Given the description of an element on the screen output the (x, y) to click on. 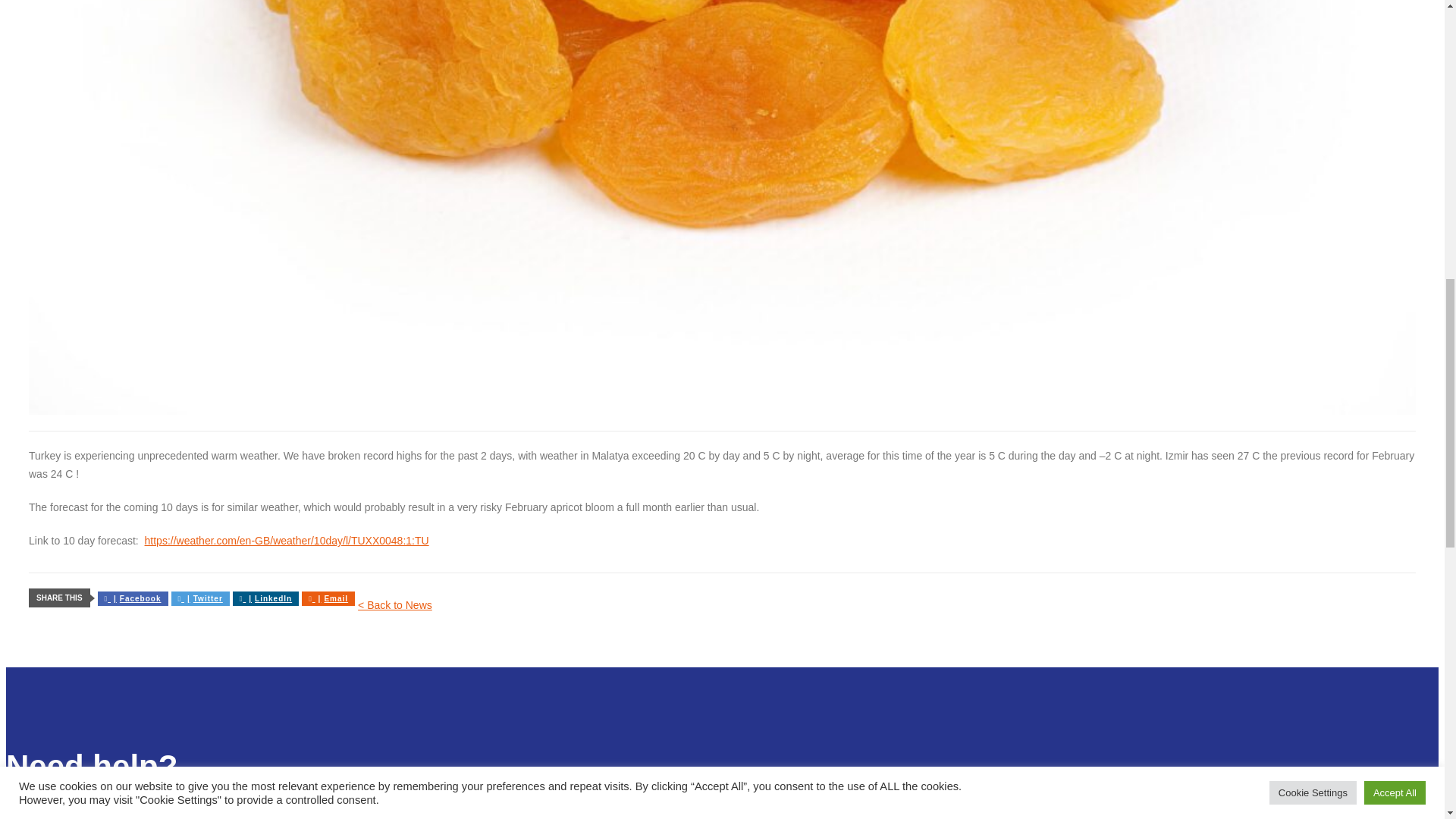
Share on LinkedIn (265, 598)
Twitter (200, 598)
Facebook (132, 598)
Share on Twitter (200, 598)
Back to News (395, 604)
Share on Facebook (132, 598)
LinkedIn (265, 598)
Email (328, 598)
Share via email (328, 598)
